Given the description of an element on the screen output the (x, y) to click on. 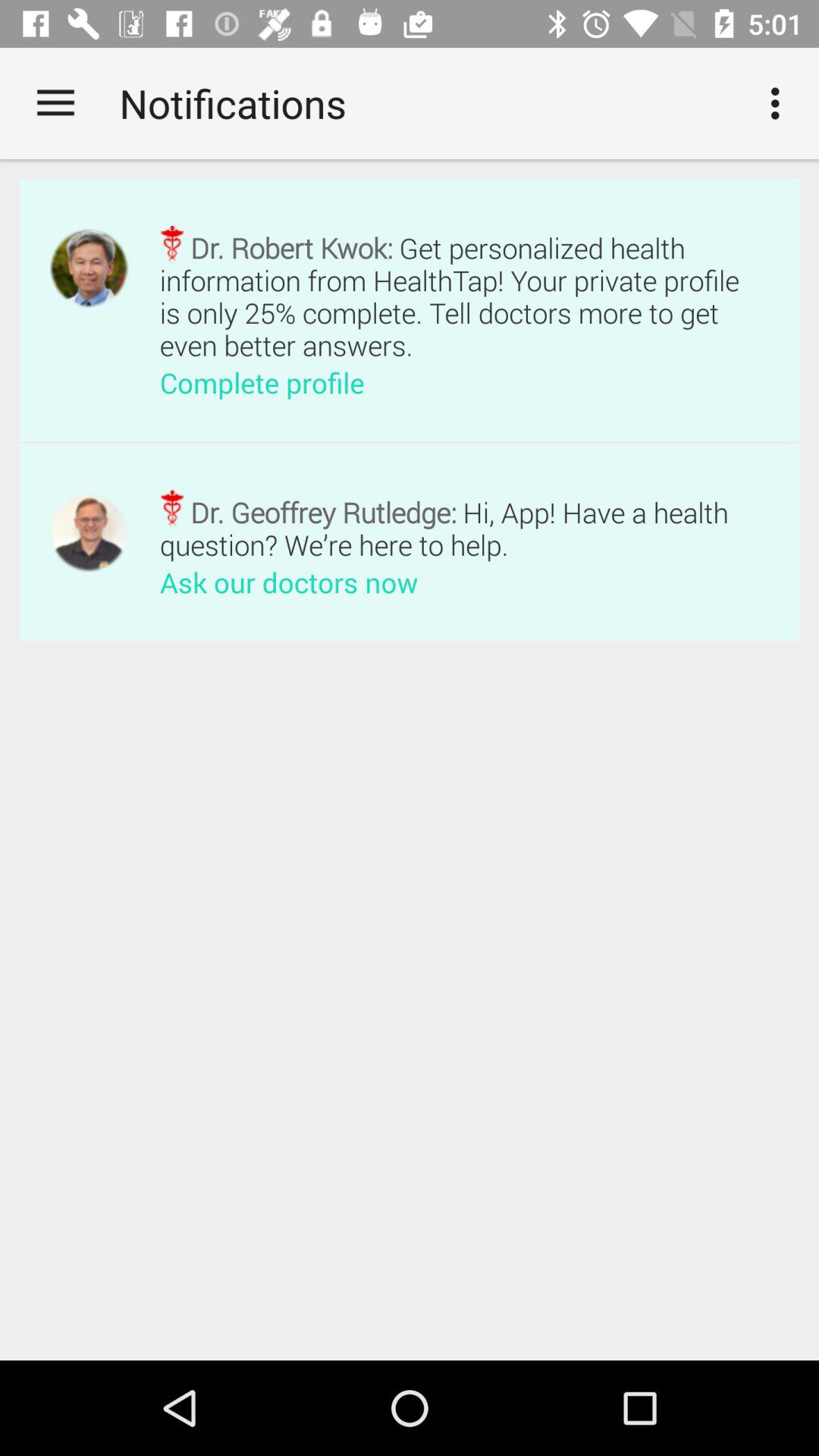
turn on item to the left of the notifications app (55, 103)
